Given the description of an element on the screen output the (x, y) to click on. 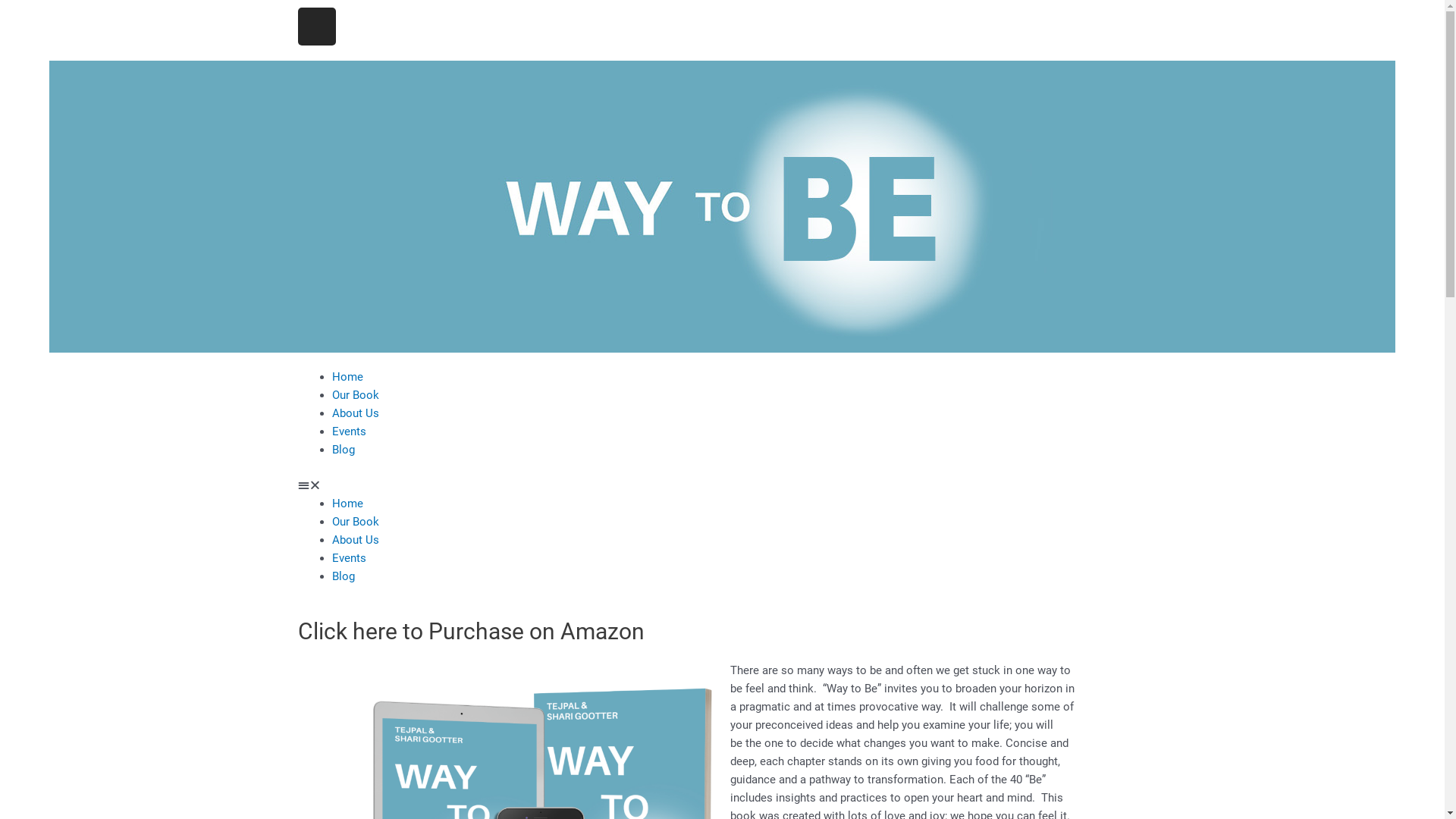
About Us Element type: text (355, 539)
Blog Element type: text (343, 449)
Home Element type: text (347, 502)
Events Element type: text (349, 431)
Home Element type: text (347, 376)
Our Book Element type: text (355, 394)
Blog Element type: text (343, 575)
Click here to Purchase on Amazon Element type: text (470, 631)
Events Element type: text (349, 557)
About Us Element type: text (355, 413)
Our Book Element type: text (355, 520)
